Given the description of an element on the screen output the (x, y) to click on. 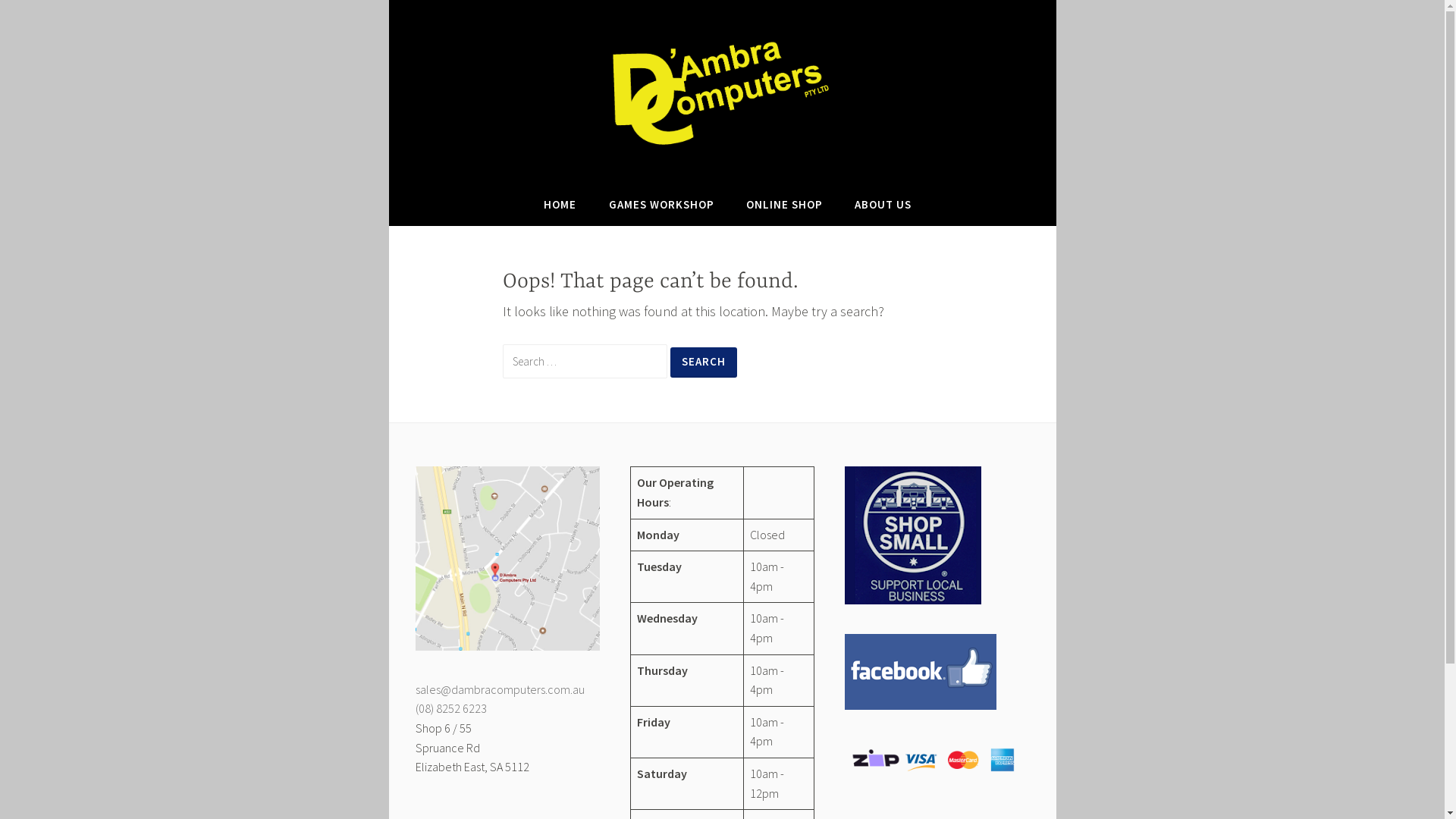
(08) 8252 6223 Element type: text (450, 707)
GAMES WORKSHOP Element type: text (660, 204)
Search Element type: text (703, 362)
ONLINE SHOP Element type: text (784, 204)
HOME Element type: text (559, 204)
D'Ambra Computers Element type: text (569, 179)
sales@dambracomputers.com.au Element type: text (499, 688)
ABOUT US Element type: text (882, 204)
